Given the description of an element on the screen output the (x, y) to click on. 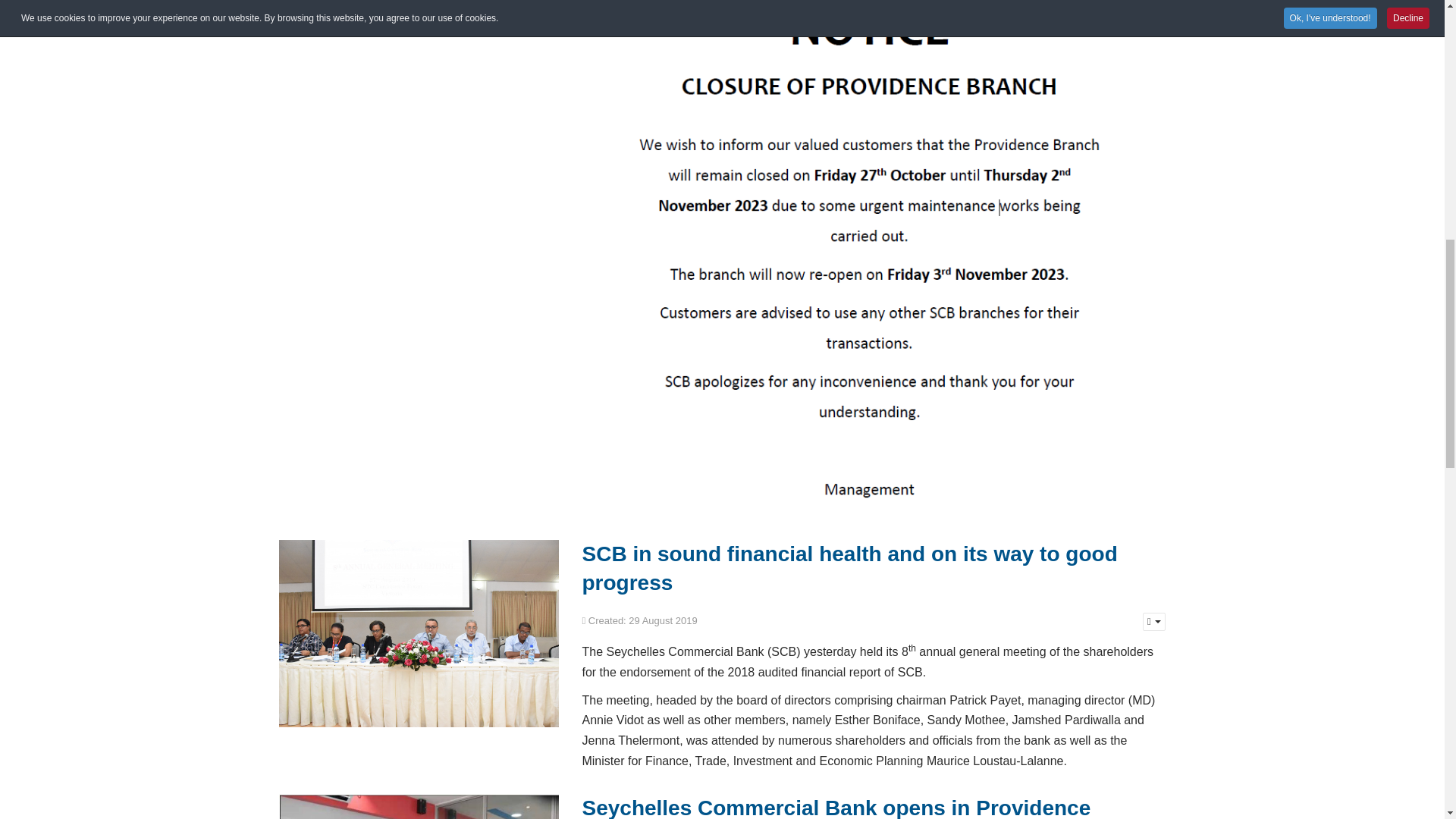
Seychelles Commercial Bank opens in Providence (835, 807)
